Given the description of an element on the screen output the (x, y) to click on. 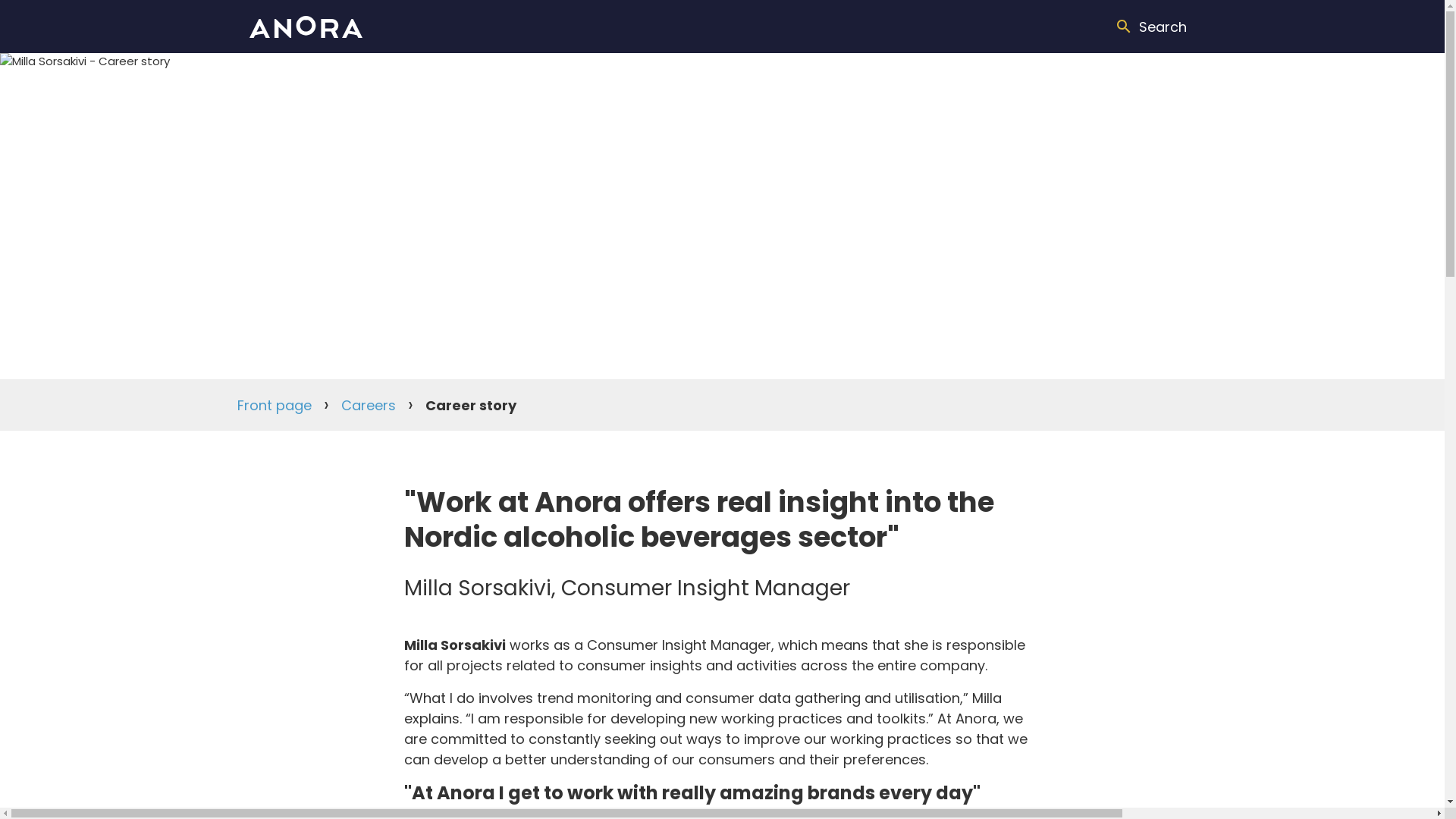
Front page (273, 403)
Search (1150, 26)
Careers (368, 403)
